Given the description of an element on the screen output the (x, y) to click on. 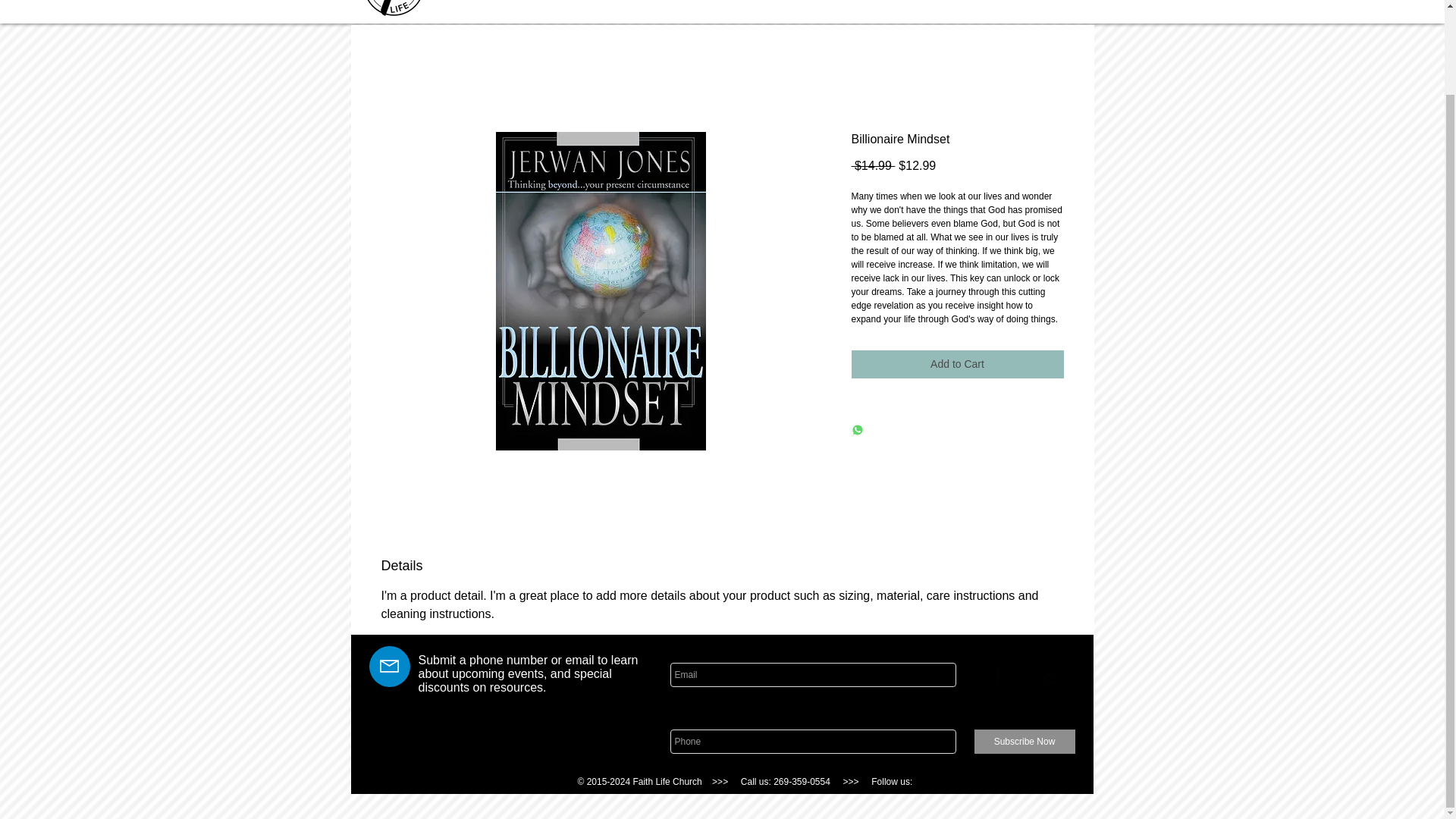
Add to Cart (956, 364)
Subscribe Now (1024, 741)
